Given the description of an element on the screen output the (x, y) to click on. 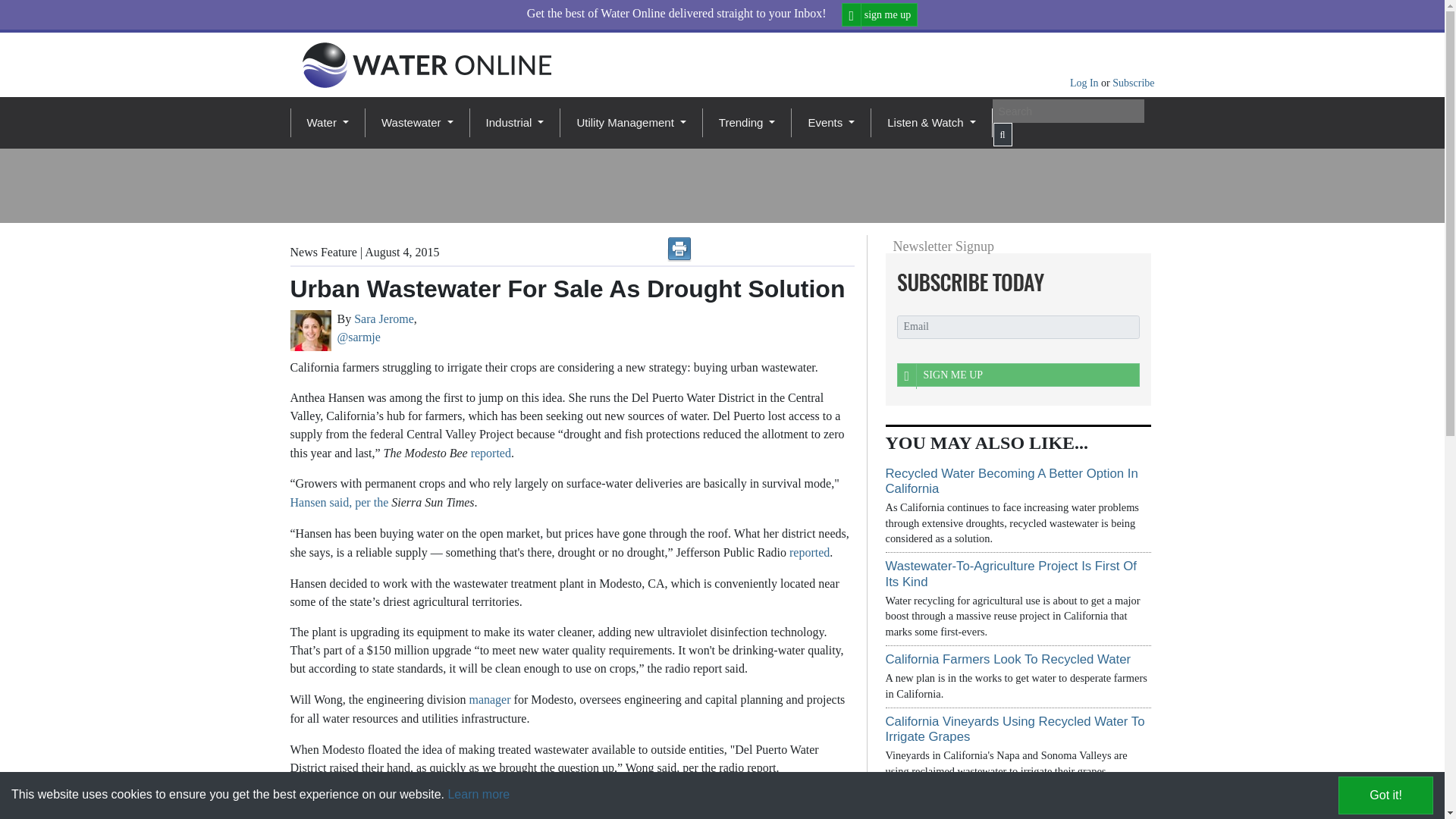
Water (326, 123)
Wastewater (417, 123)
Newsletter Signup (1013, 281)
Sara Jerome (309, 330)
Print (679, 249)
Log In (1085, 82)
sign me up (879, 14)
3rd party ad content (1008, 185)
3rd party ad content (623, 185)
Subscribe (1133, 82)
